Given the description of an element on the screen output the (x, y) to click on. 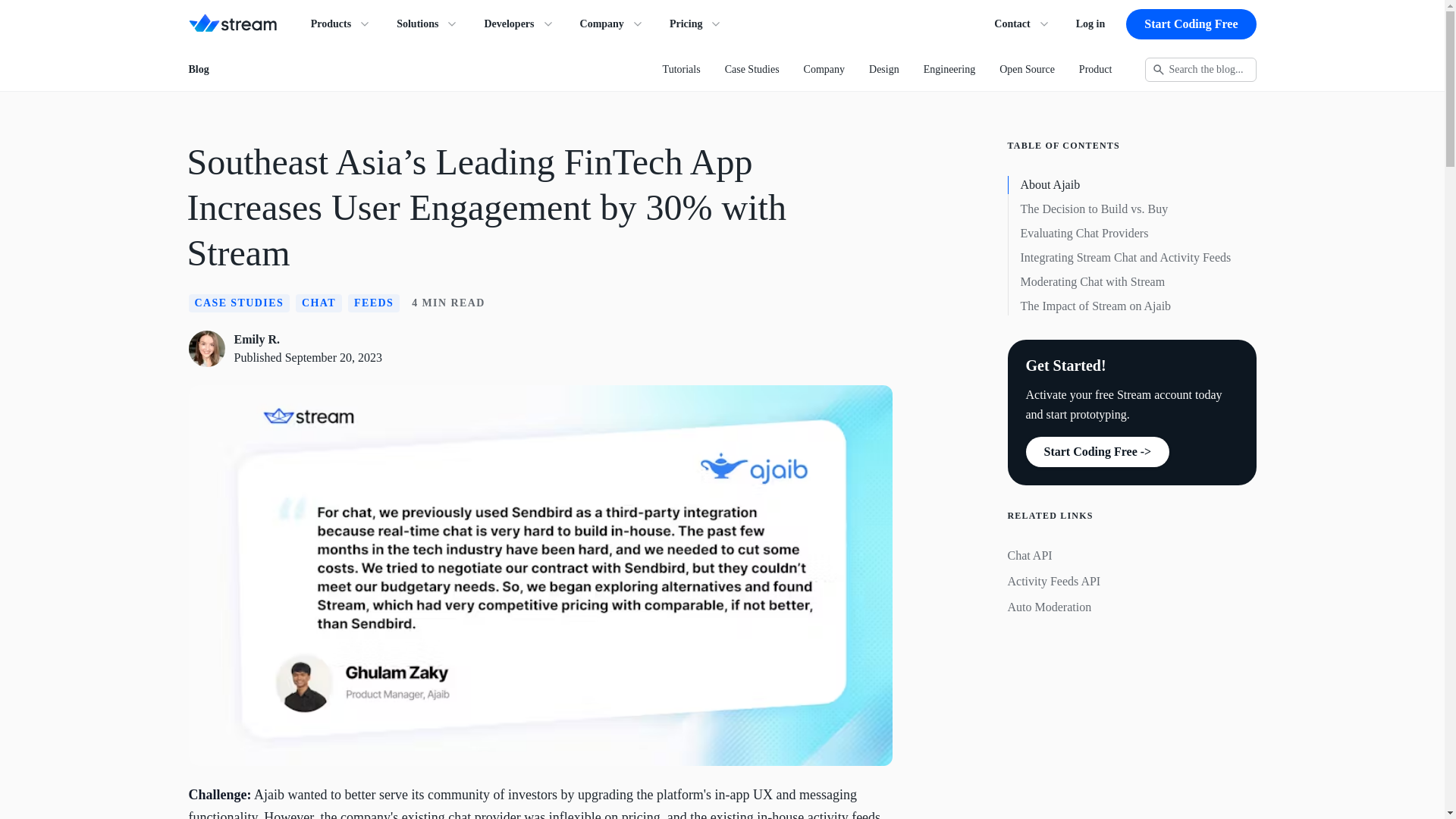
Log in (1091, 24)
